Given the description of an element on the screen output the (x, y) to click on. 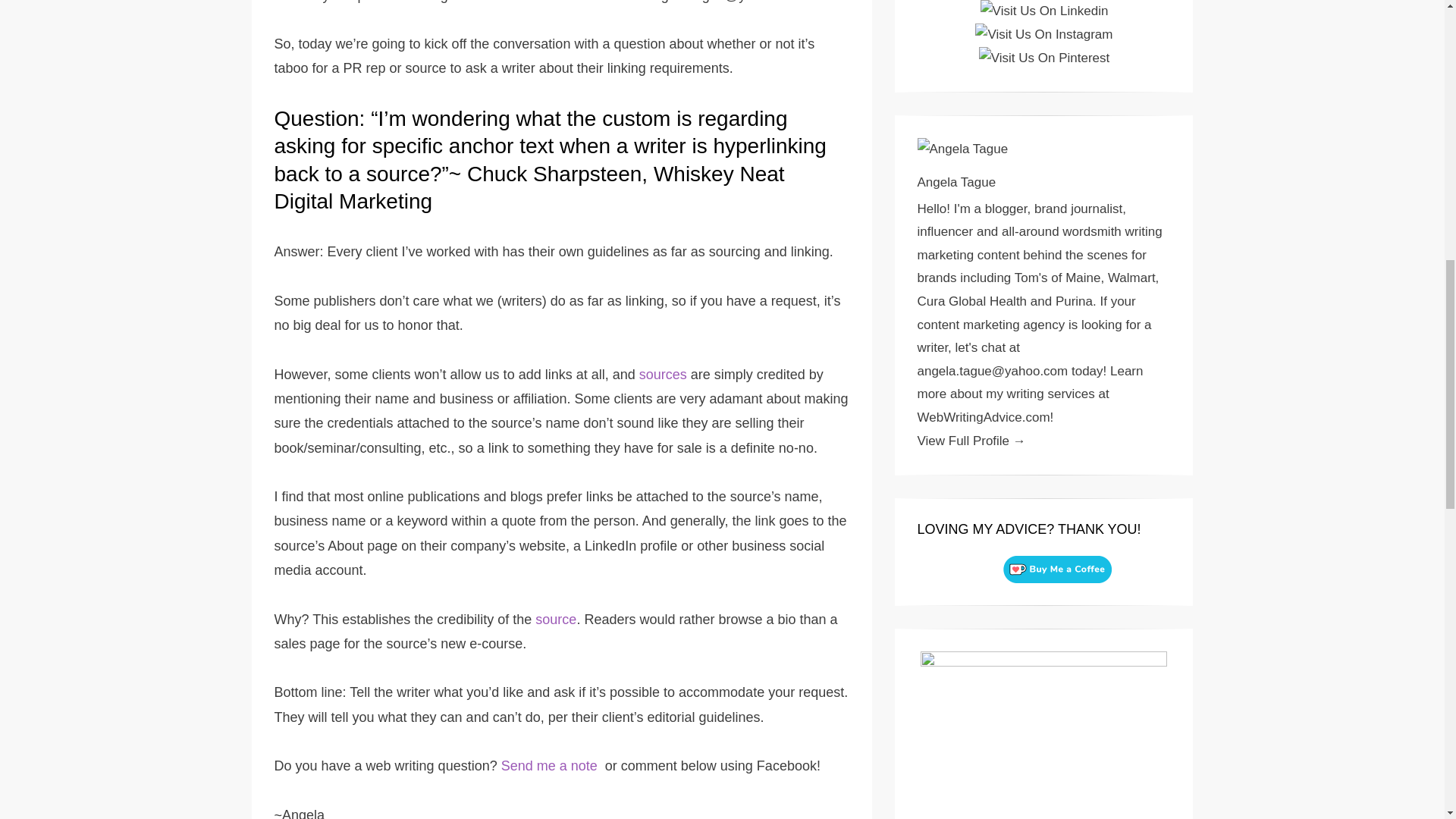
sources (663, 374)
contact form (514, 1)
Send me a note  (550, 765)
source (555, 619)
